Given the description of an element on the screen output the (x, y) to click on. 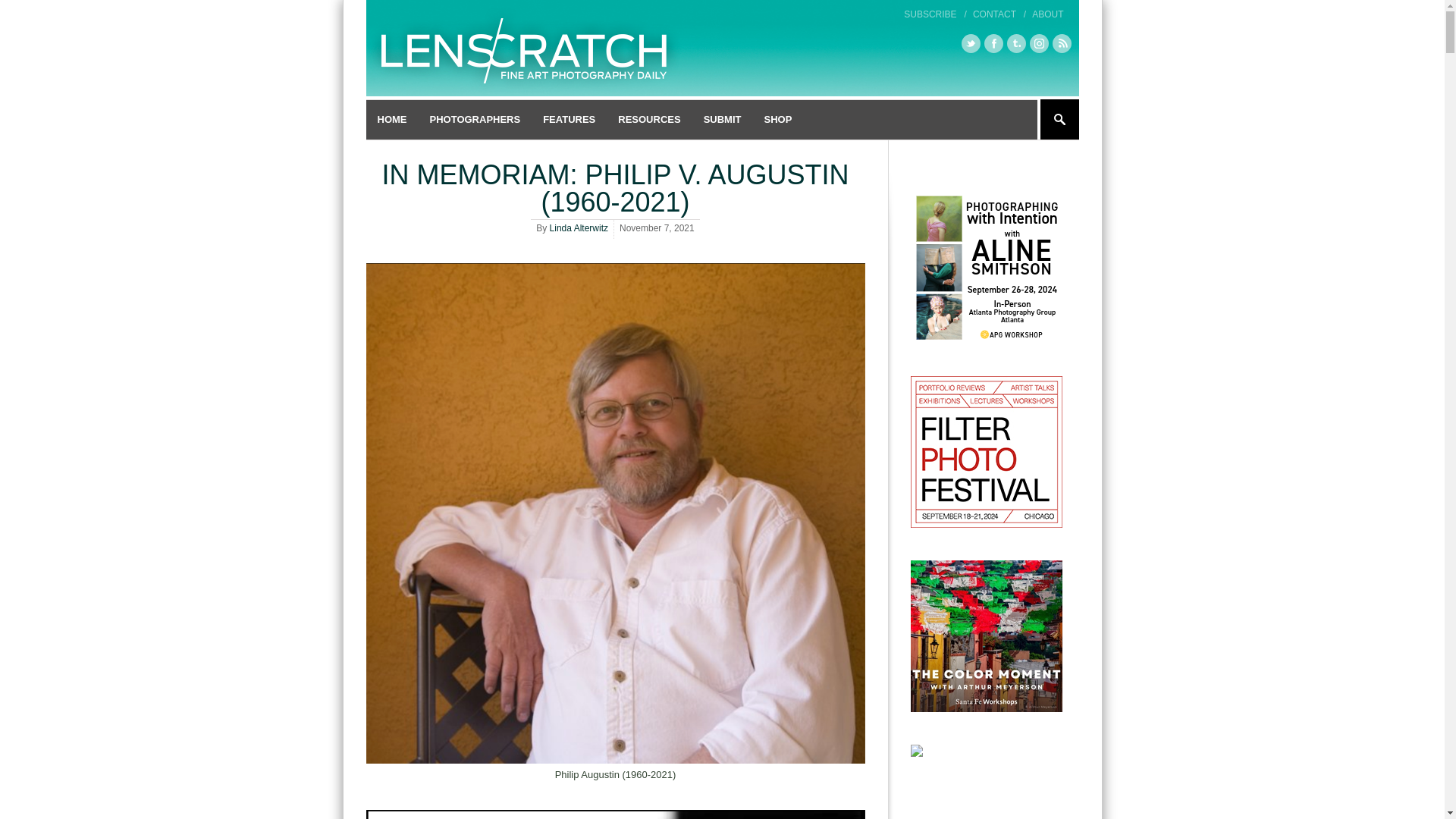
ABOUT (1047, 14)
Posts by Linda Alterwitz (579, 227)
